Given the description of an element on the screen output the (x, y) to click on. 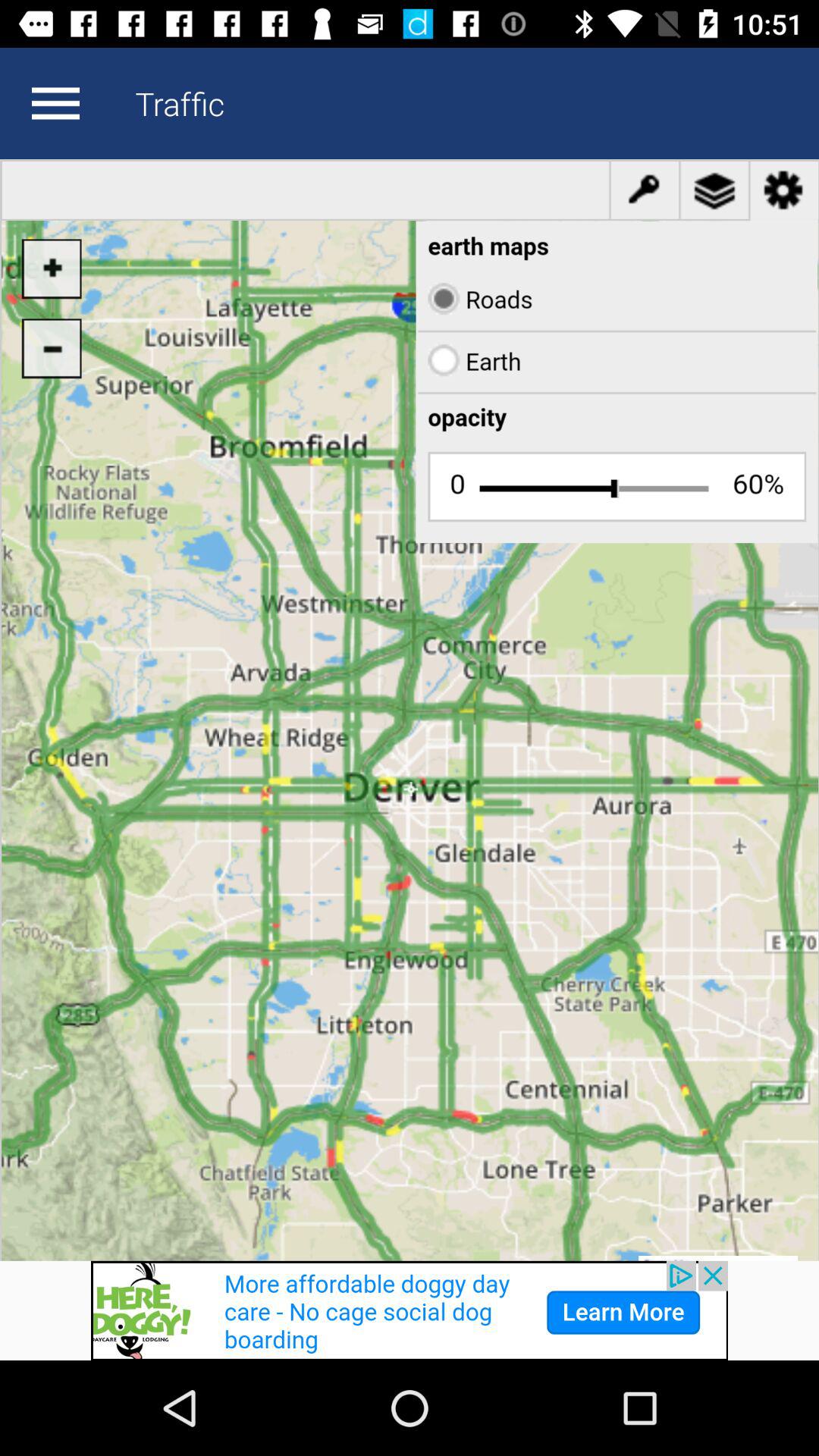
banner advertisement (409, 1310)
